Given the description of an element on the screen output the (x, y) to click on. 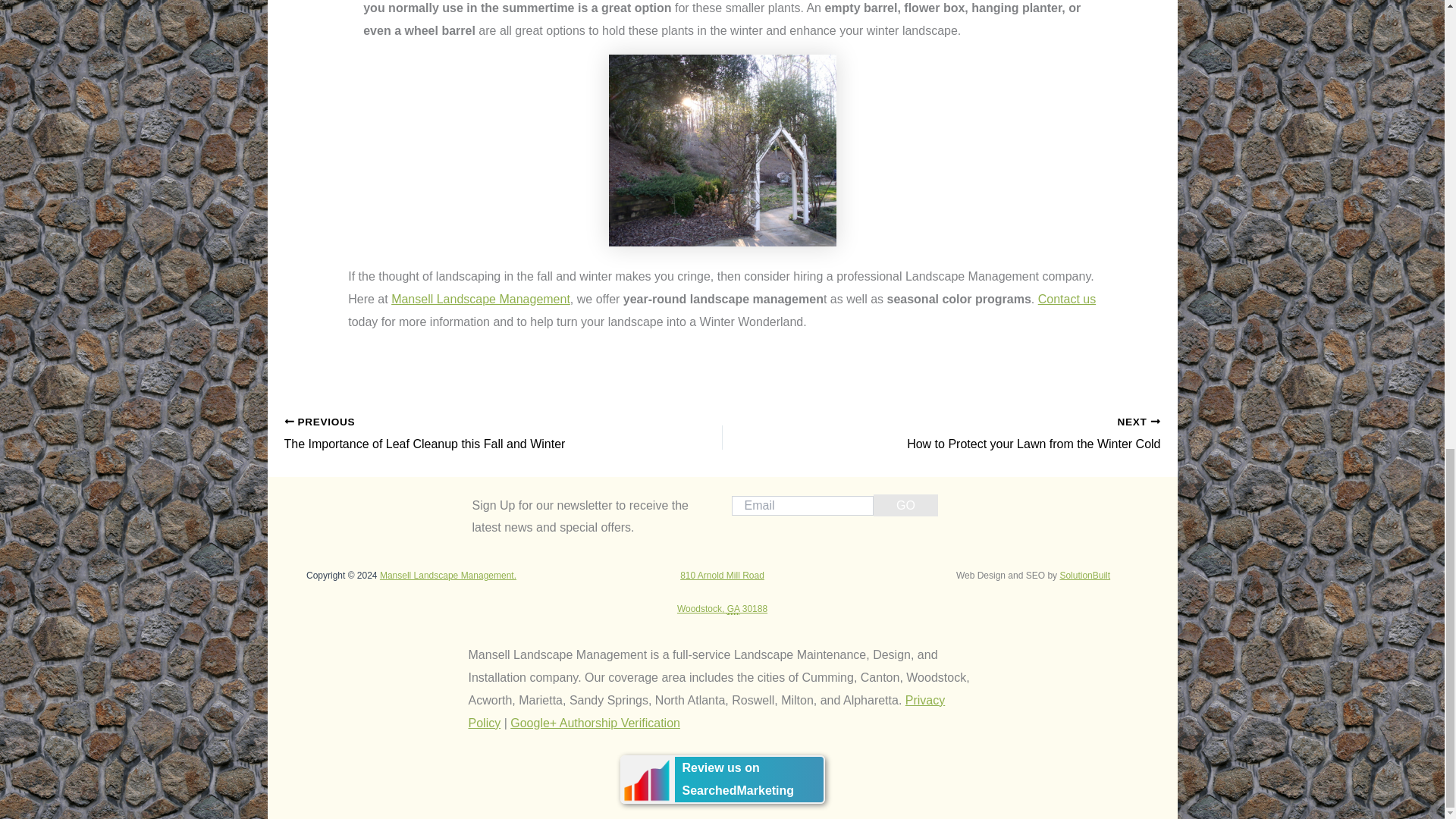
GO (905, 505)
How to Protect your Lawn from the Winter Cold (984, 434)
Georgia (732, 609)
The Importance of Leaf Cleanup this Fall and Winter (458, 434)
